Given the description of an element on the screen output the (x, y) to click on. 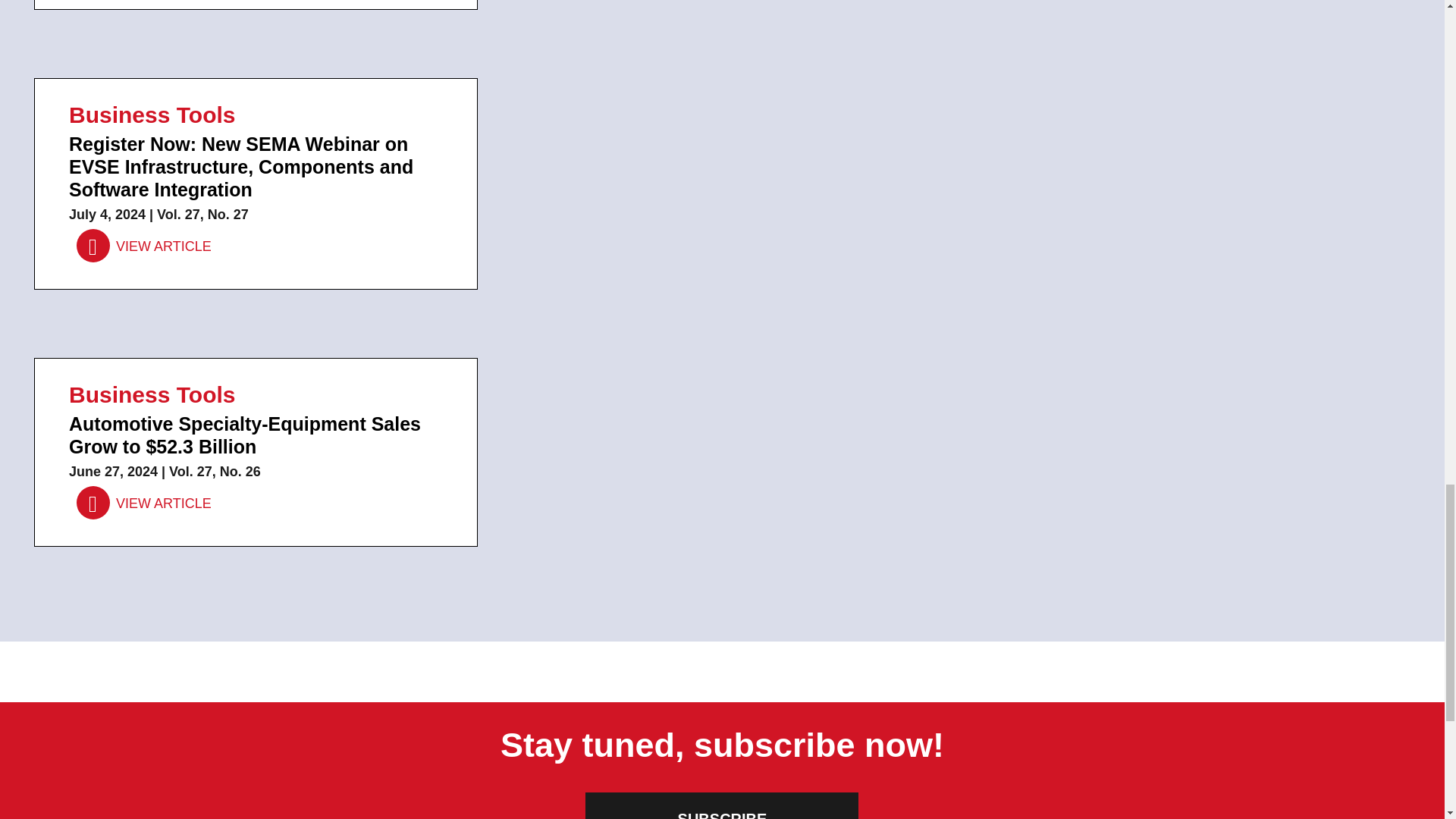
VIEW ARTICLE (143, 503)
VIEW ARTICLE (143, 245)
SUBSCRIBE (722, 805)
